Given the description of an element on the screen output the (x, y) to click on. 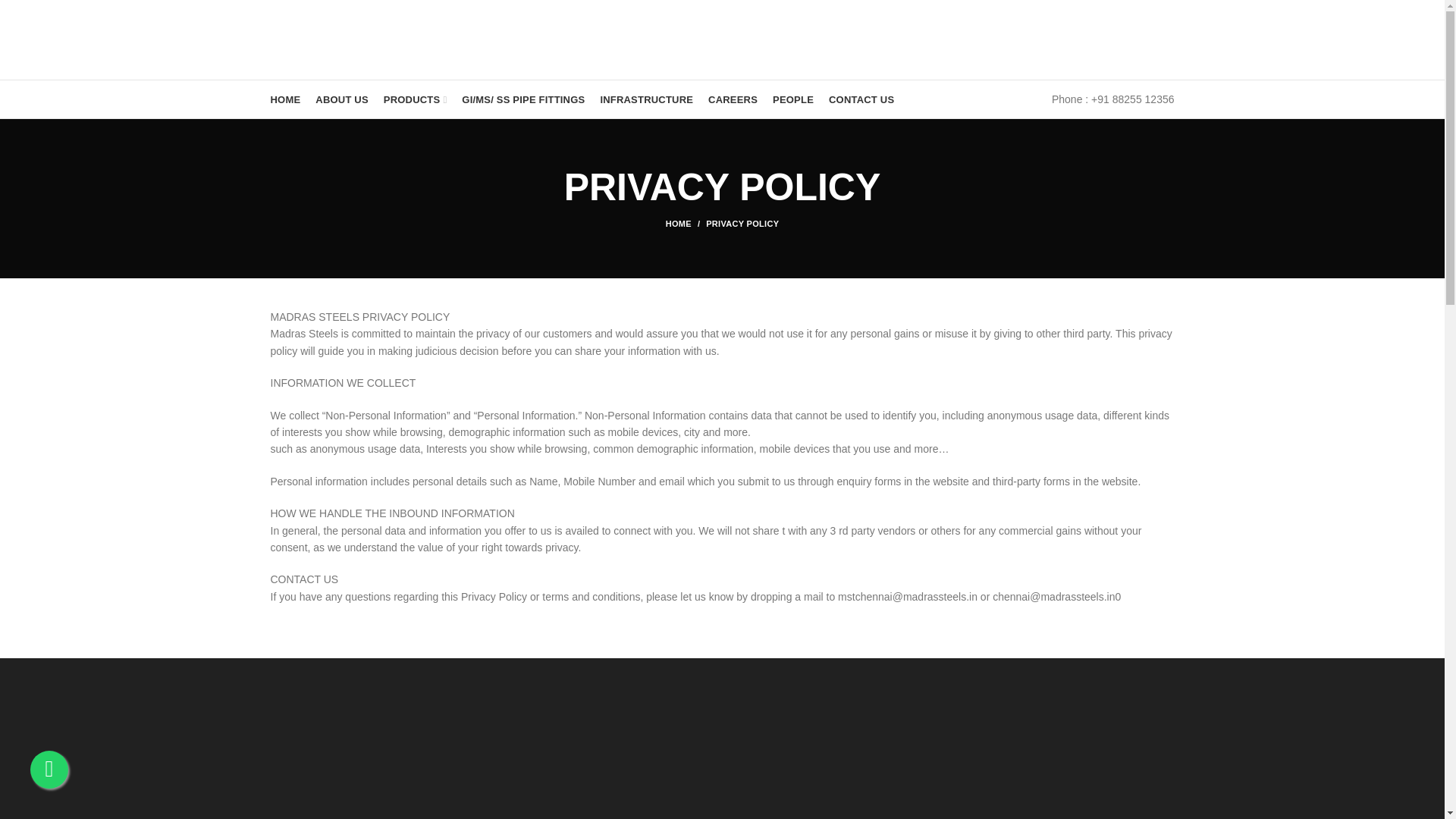
ABOUT US (341, 98)
CONTACT US (861, 98)
INFRASTRUCTURE (646, 98)
HOME (284, 98)
PEOPLE (793, 98)
CAREERS (732, 98)
HOME (685, 223)
PRODUCTS (414, 98)
